Given the description of an element on the screen output the (x, y) to click on. 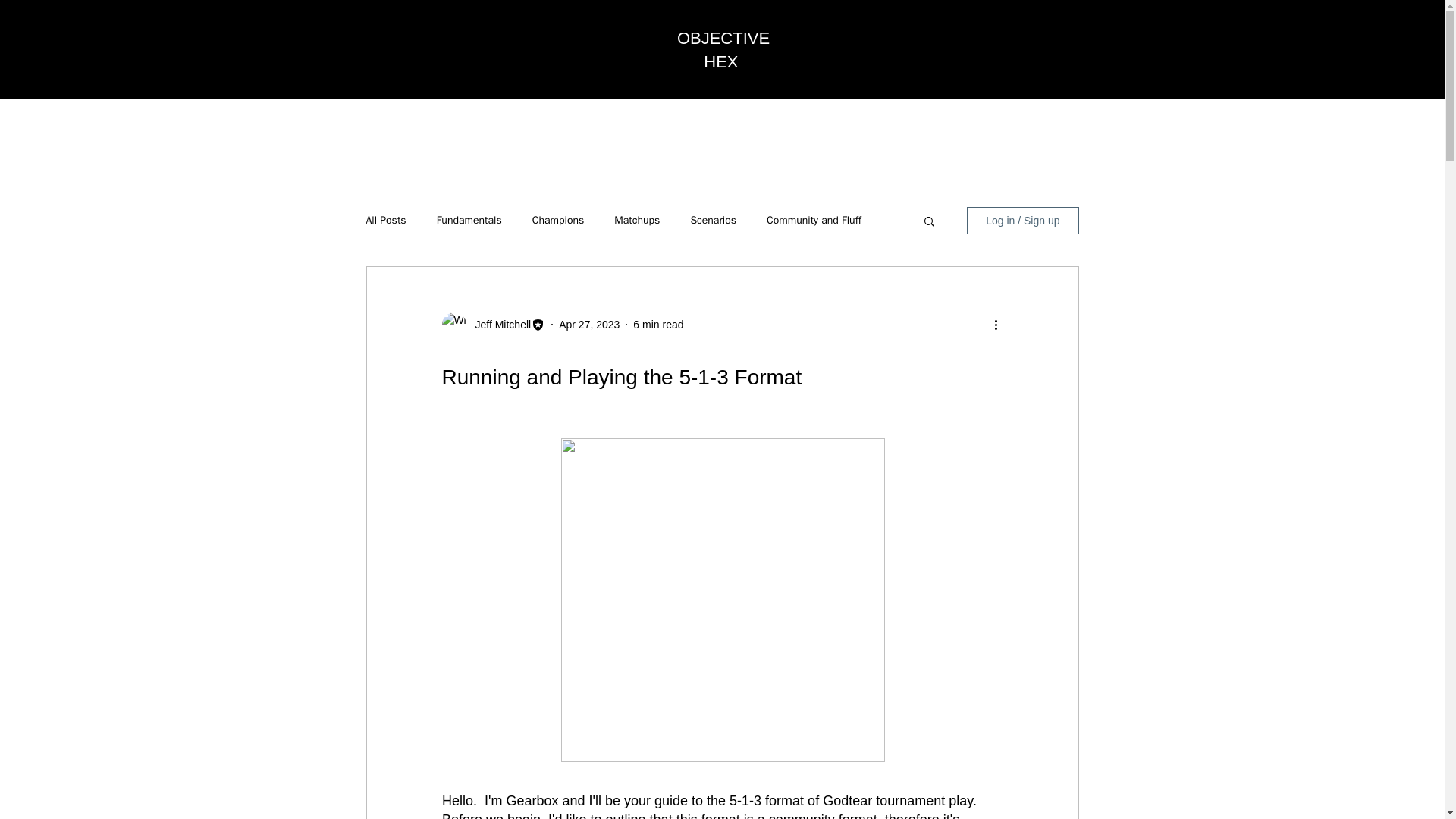
Fundamentals (469, 220)
Matchups (636, 220)
Community and Fluff (814, 220)
Scenarios (713, 220)
6 min read (657, 324)
OBJECTIVE HEX  (723, 49)
Champions (558, 220)
All Posts (385, 220)
Jeff Mitchell (498, 324)
Apr 27, 2023 (589, 324)
